Given the description of an element on the screen output the (x, y) to click on. 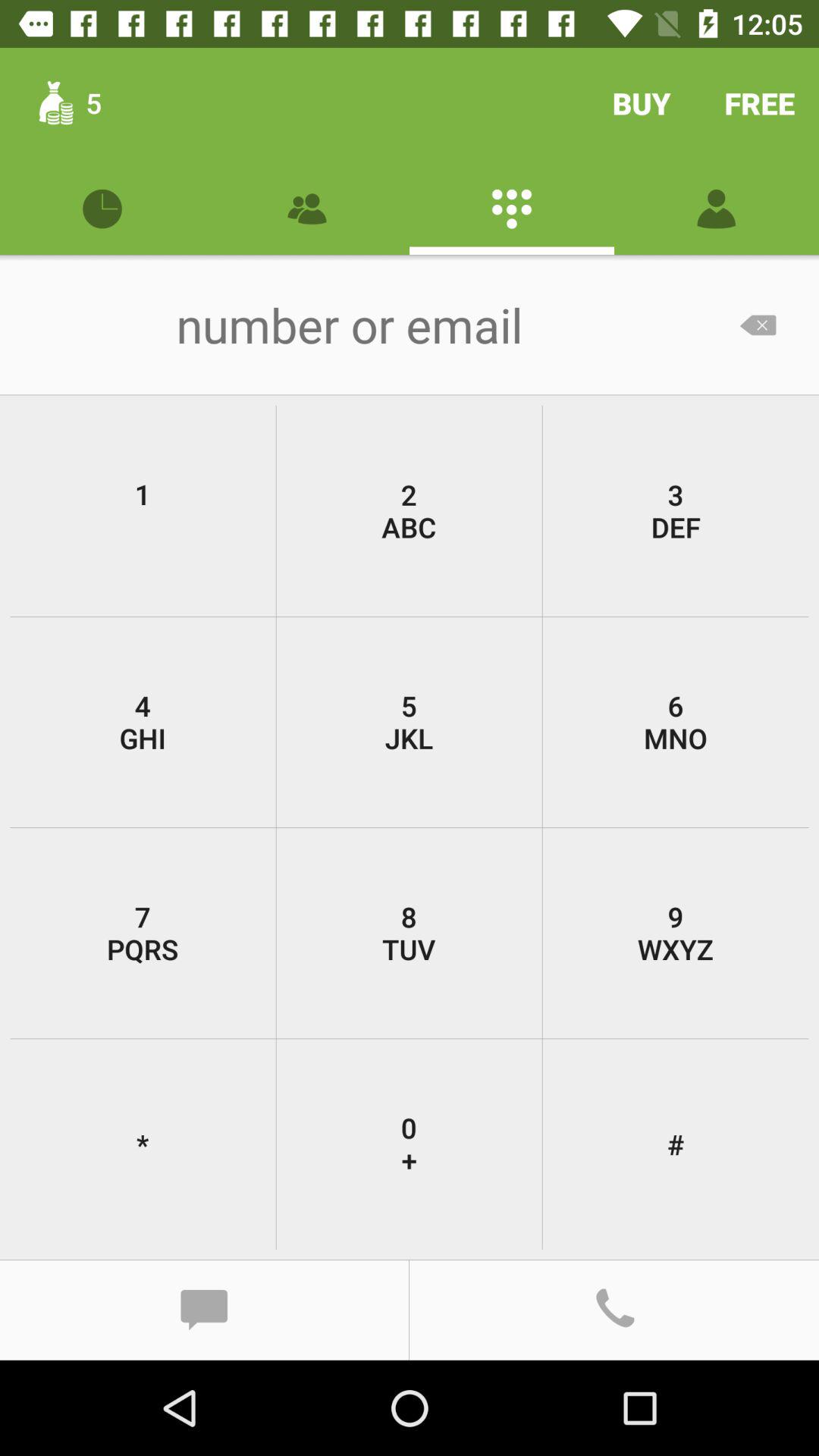
turn on the item below 4
ghi icon (142, 933)
